Given the description of an element on the screen output the (x, y) to click on. 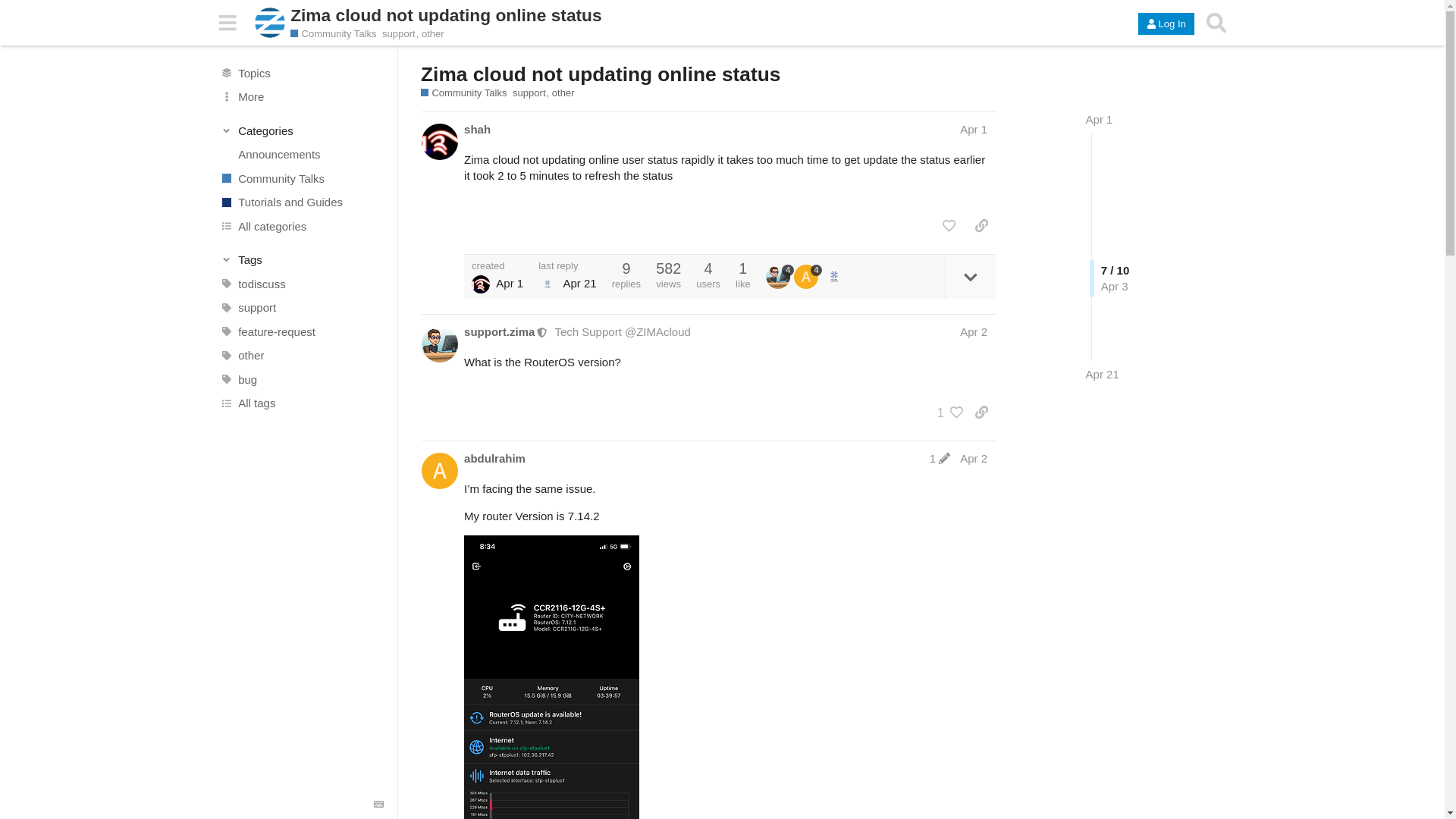
feature-request (301, 331)
support (401, 33)
Apr 21 (1102, 374)
Community Talks (301, 178)
other (563, 92)
Tutorials and Guides (301, 202)
shah (477, 129)
todiscuss (301, 283)
Step by step and howtos (301, 202)
More (301, 96)
Apr 1 (1099, 119)
Toggle section (301, 259)
Apr 1 (973, 128)
